Given the description of an element on the screen output the (x, y) to click on. 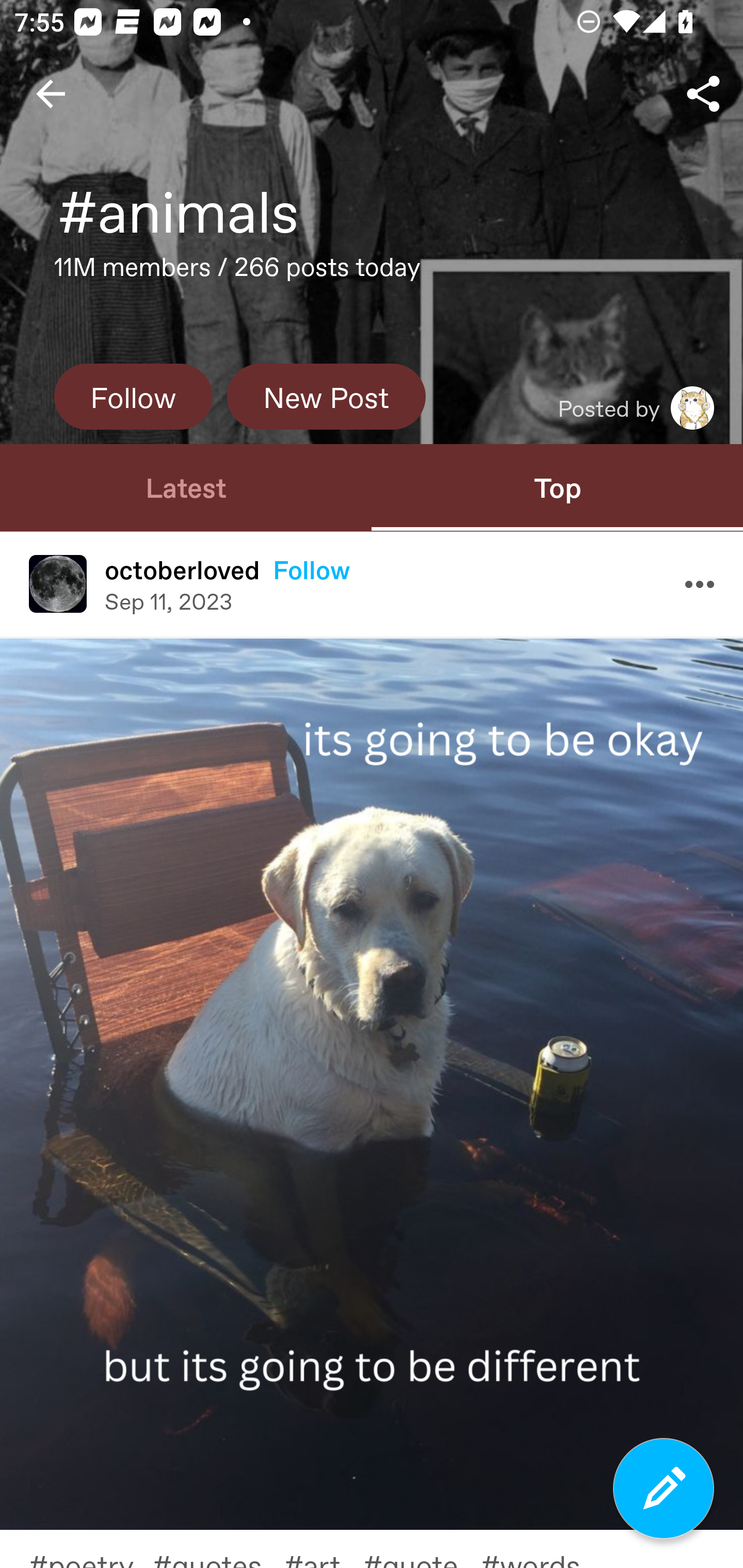
Navigate up (50, 93)
11M members /  266 posts today (237, 272)
Follow (133, 396)
New Post (326, 396)
Latest (185, 486)
Follow (311, 569)
Compose a new post (663, 1488)
